Given the description of an element on the screen output the (x, y) to click on. 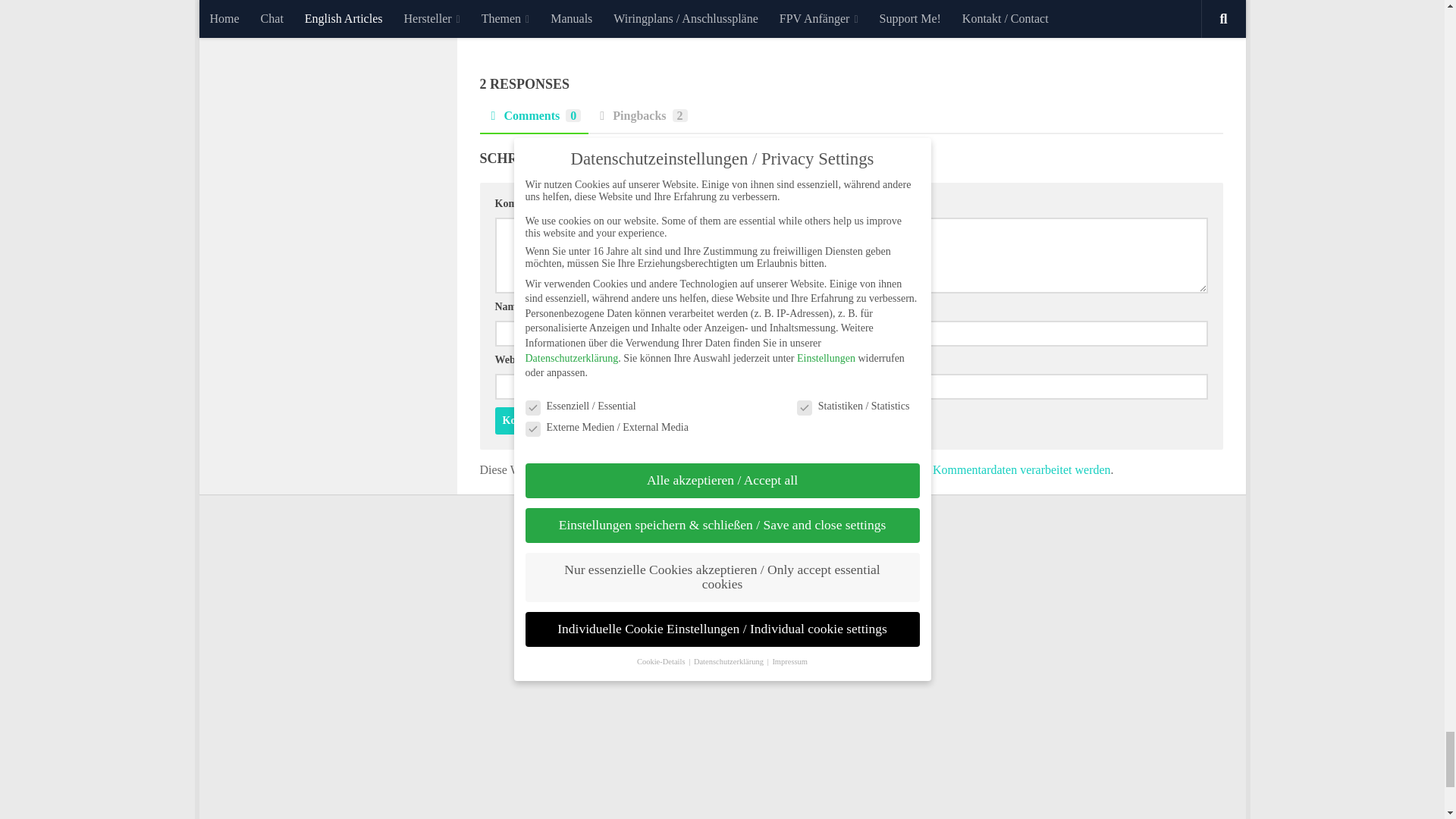
Kommentar abschicken (556, 420)
